Given the description of an element on the screen output the (x, y) to click on. 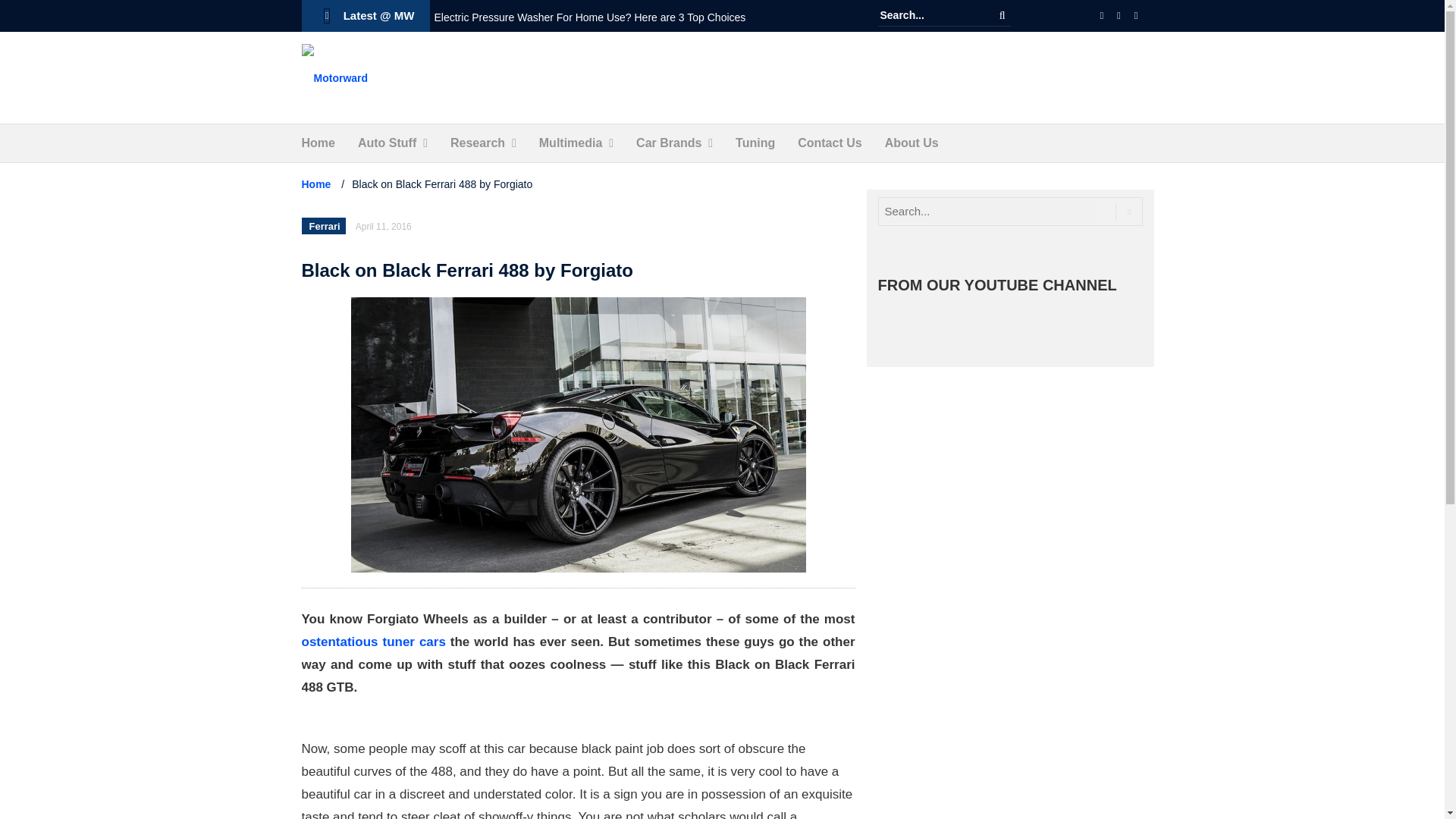
Auto Stuff (387, 143)
Multimedia (570, 143)
Search   (1002, 14)
Black on Black Ferrari 488 0 600x363 (577, 434)
Research (477, 143)
Home (317, 143)
Car Brands (668, 143)
